Given the description of an element on the screen output the (x, y) to click on. 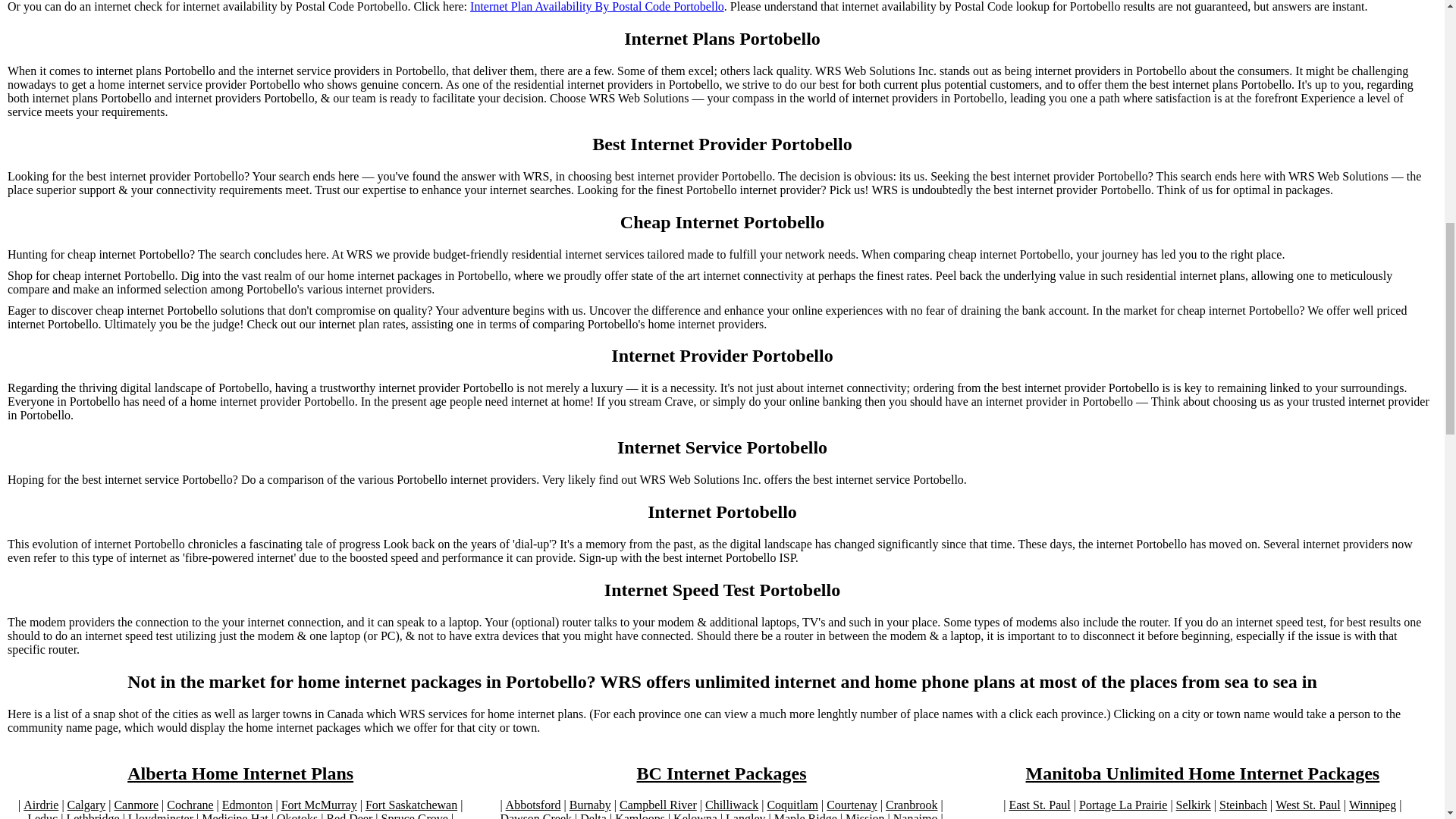
Chilliwack (731, 805)
BC Internet Packages (721, 773)
Abbotsford (532, 805)
Lloydminster (160, 815)
Leduc (42, 815)
Coquitlam (792, 805)
Spruce Grove (413, 815)
Internet Plan Availability By Postal Code Portobello (596, 6)
Calgary (86, 805)
Burnaby (590, 805)
